Given the description of an element on the screen output the (x, y) to click on. 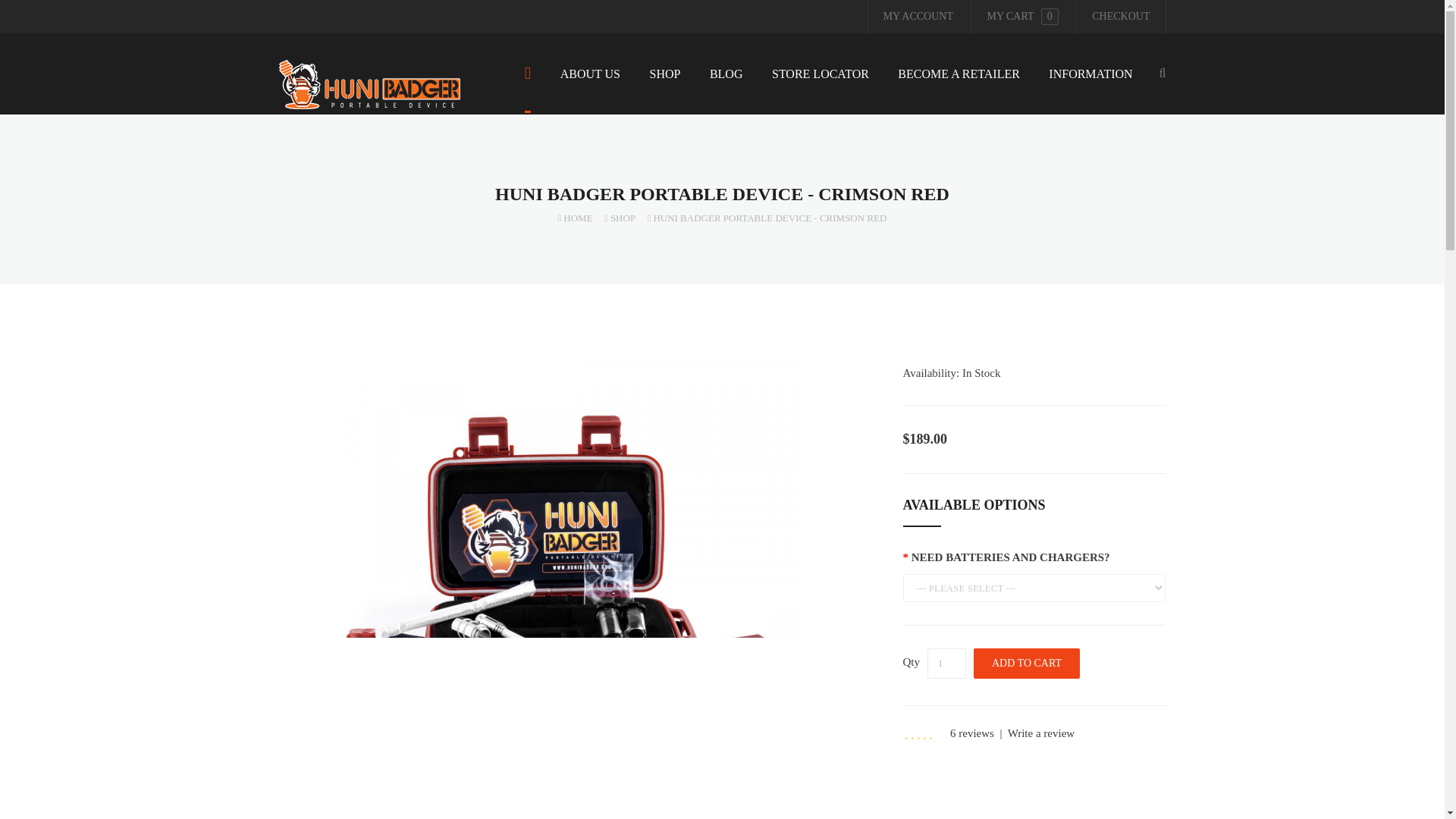
1 (946, 663)
ABOUT US (590, 86)
HOME (574, 217)
Add to Cart (1027, 663)
STORE LOCATOR (820, 86)
MY ACCOUNT (917, 16)
HUNI BADGER PORTABLE DEVICE - CRIMSON RED (766, 217)
BECOME A RETAILER (959, 86)
6 reviews (972, 733)
MY CART 0 (1022, 16)
SHOP (619, 217)
INFORMATION (1090, 86)
Write a review (1041, 733)
